Given the description of an element on the screen output the (x, y) to click on. 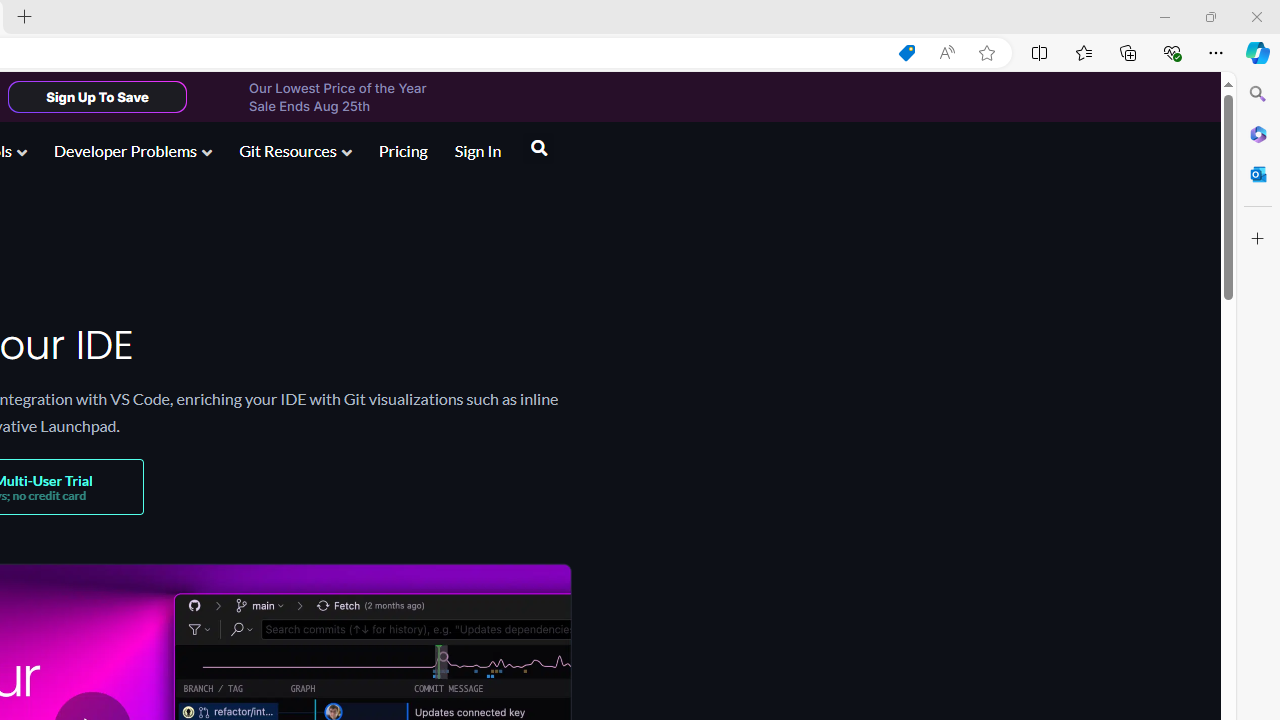
Shopping in Microsoft Edge (906, 53)
Sign Up To Save (97, 96)
Sign In (477, 152)
